Given the description of an element on the screen output the (x, y) to click on. 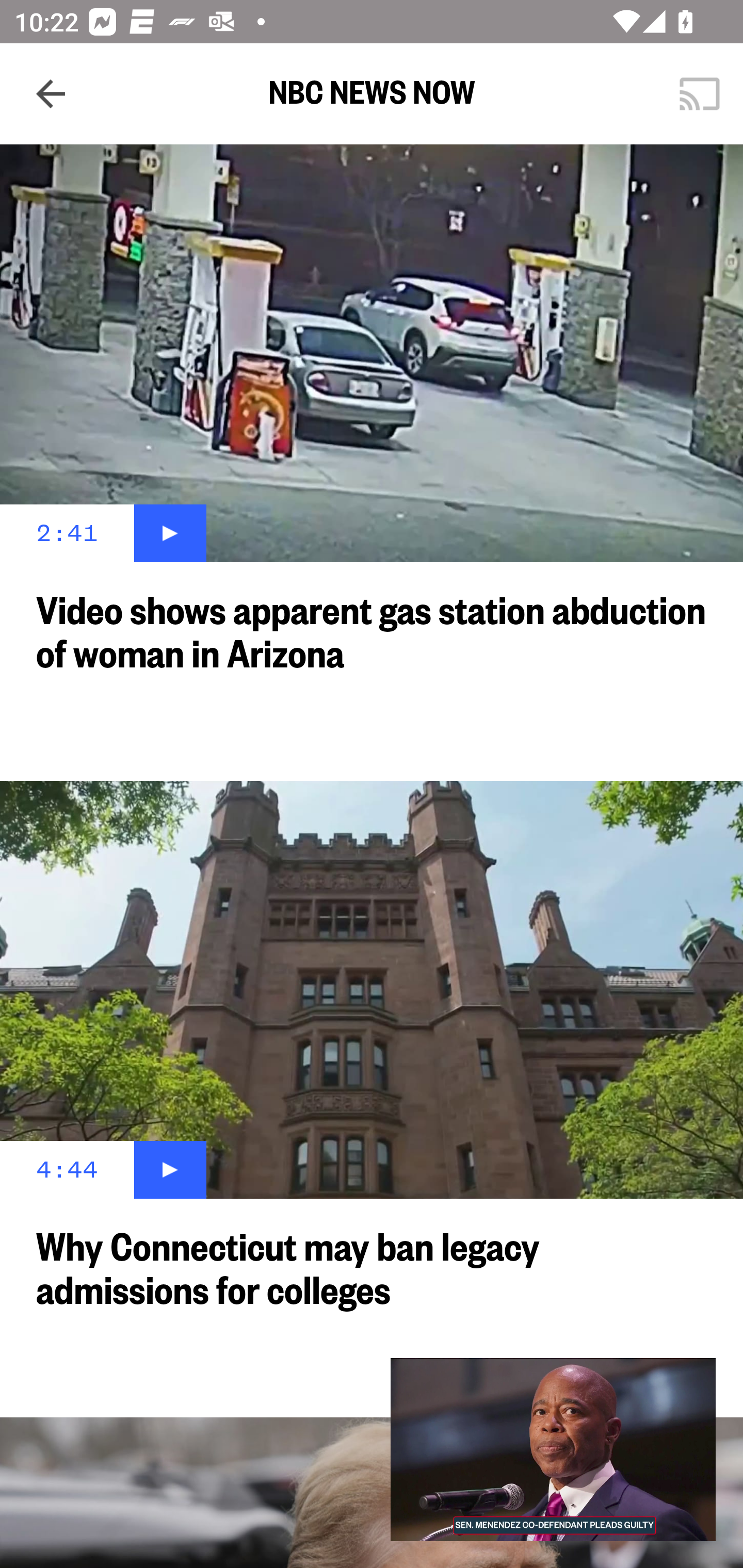
Navigate up (50, 93)
Cast. Disconnected (699, 93)
